Given the description of an element on the screen output the (x, y) to click on. 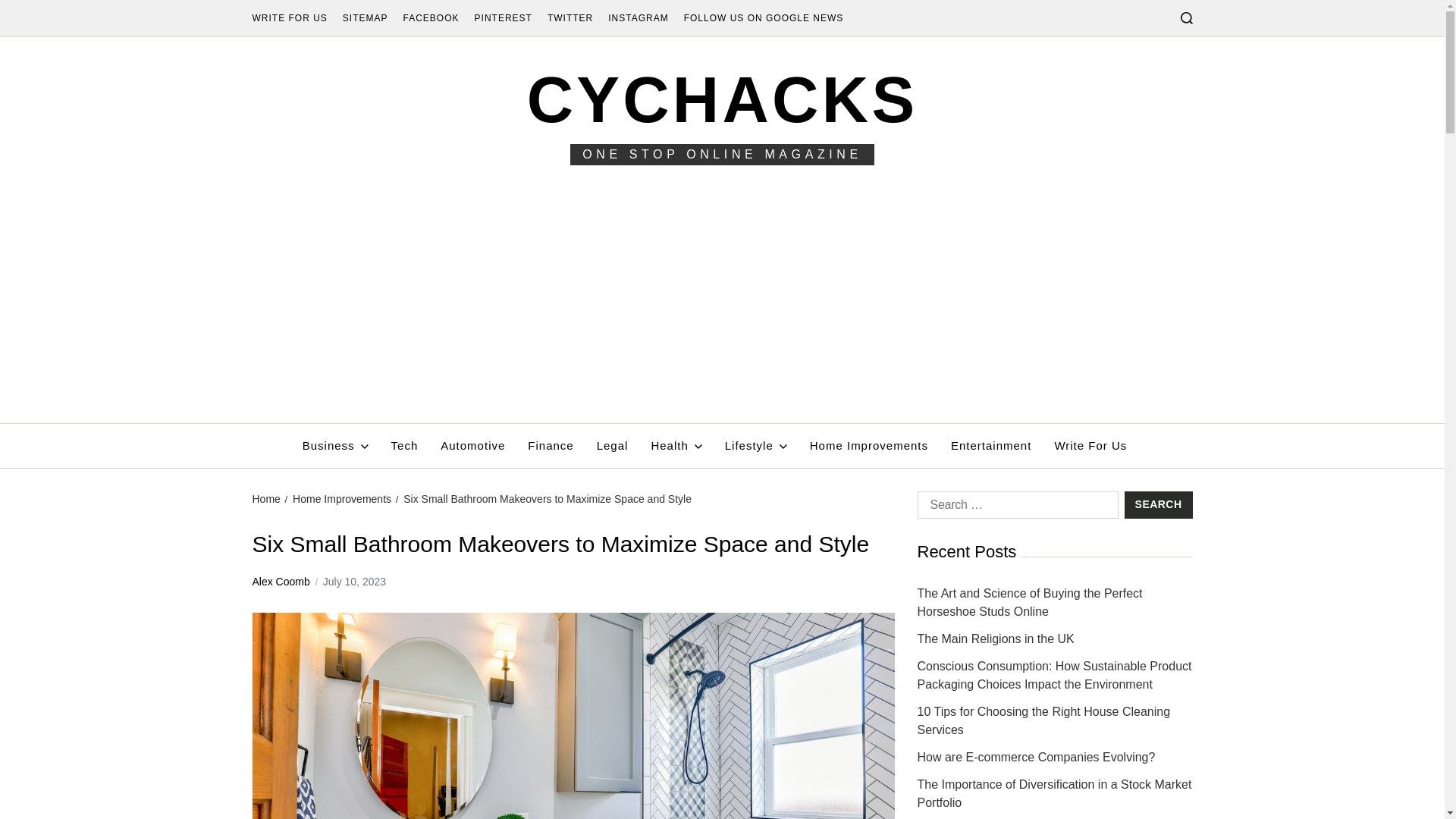
SITEMAP (365, 18)
CYCHACKS (722, 99)
Search (1158, 504)
Finance (550, 445)
Alex Coomb (279, 580)
Business (335, 445)
INSTAGRAM (638, 18)
Automotive (473, 445)
WRITE FOR US (288, 18)
PINTEREST (503, 18)
Home (265, 499)
Entertainment (990, 445)
Lifestyle (756, 445)
Home Improvements (341, 499)
FOLLOW US ON GOOGLE NEWS (764, 18)
